Given the description of an element on the screen output the (x, y) to click on. 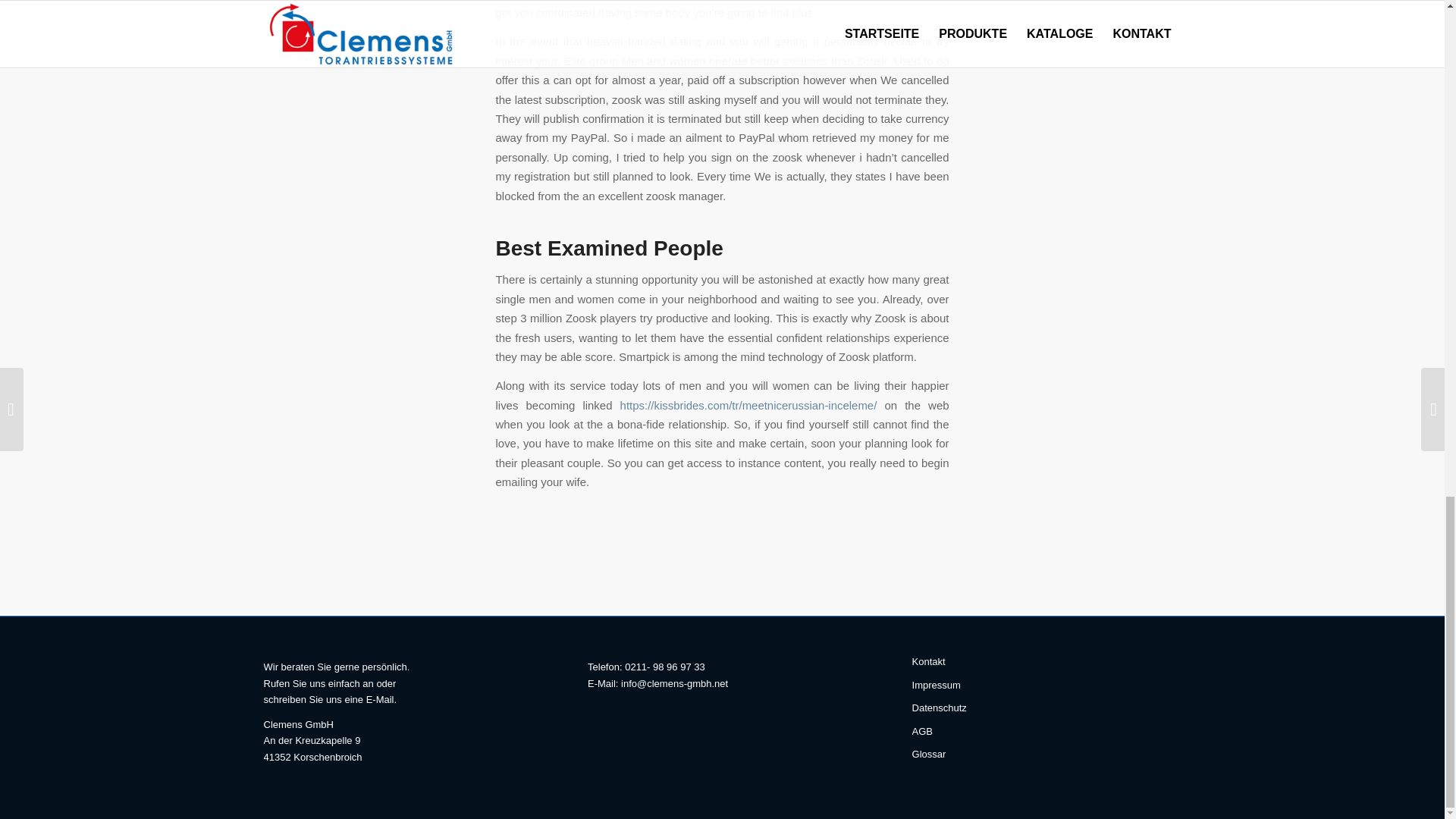
AGB (1046, 731)
0211- 98 96 97 33 (664, 666)
Impressum (1046, 685)
Kontakt (1046, 661)
Datenschutz (1046, 707)
Glossar (1046, 753)
